Given the description of an element on the screen output the (x, y) to click on. 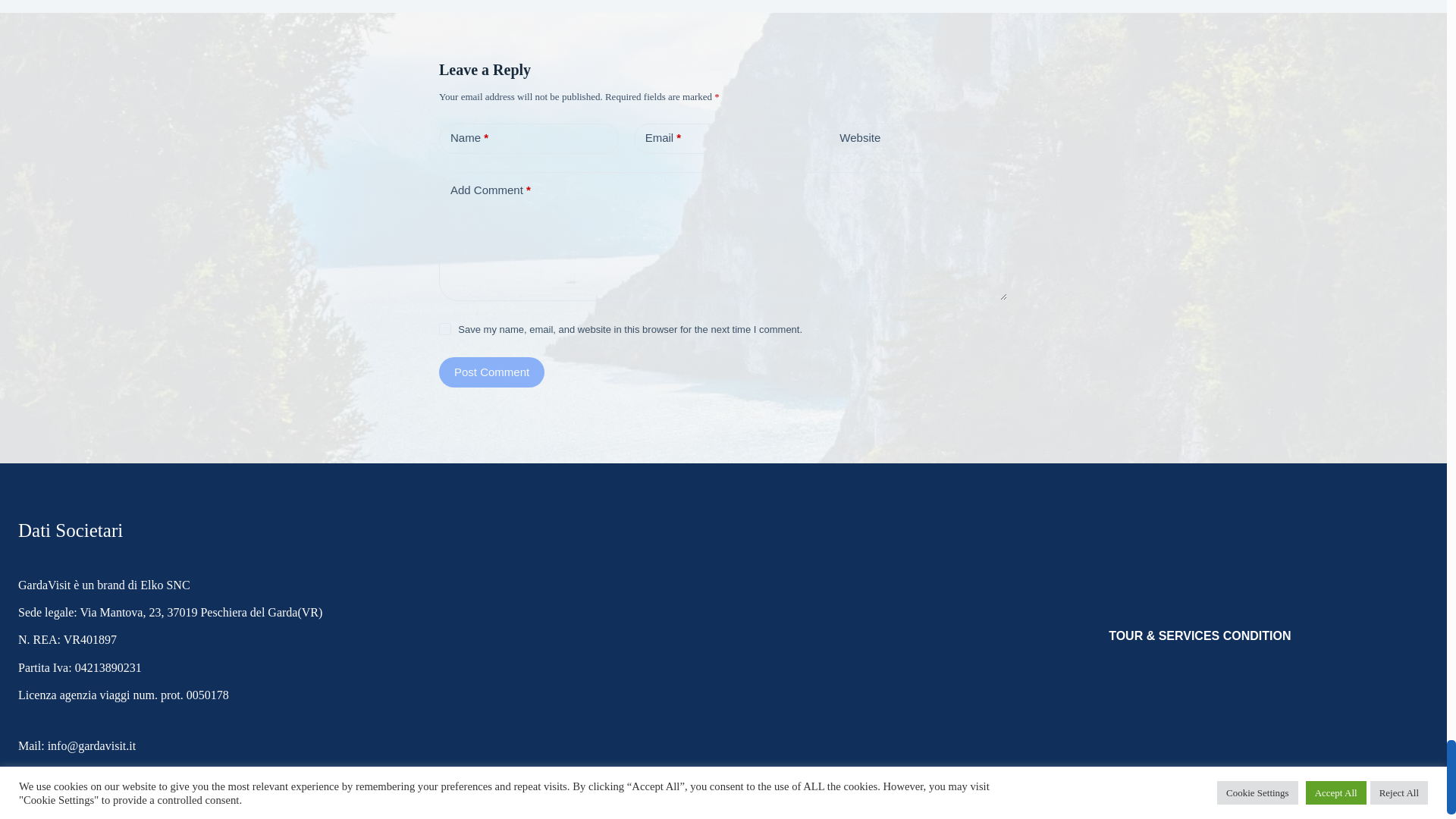
yes (445, 328)
